Given the description of an element on the screen output the (x, y) to click on. 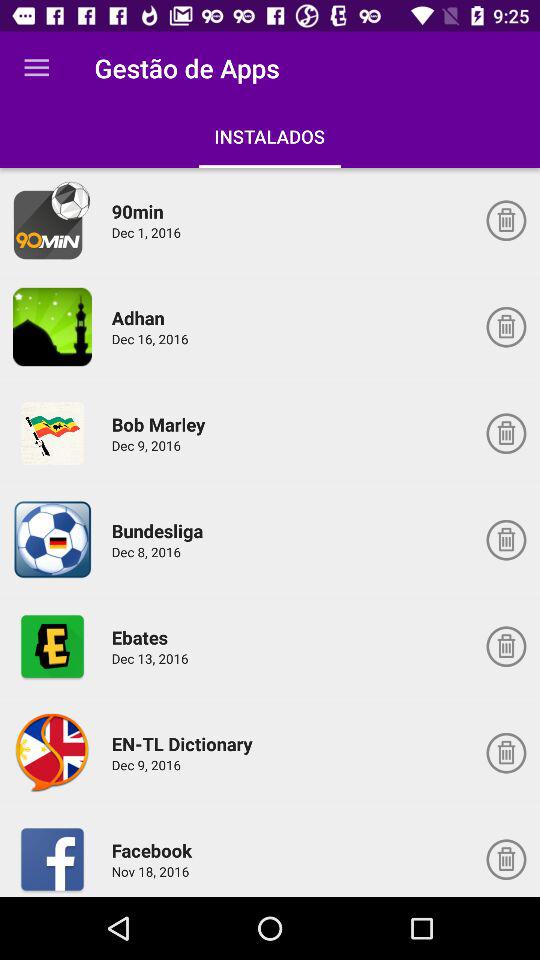
discard the app (505, 433)
